Given the description of an element on the screen output the (x, y) to click on. 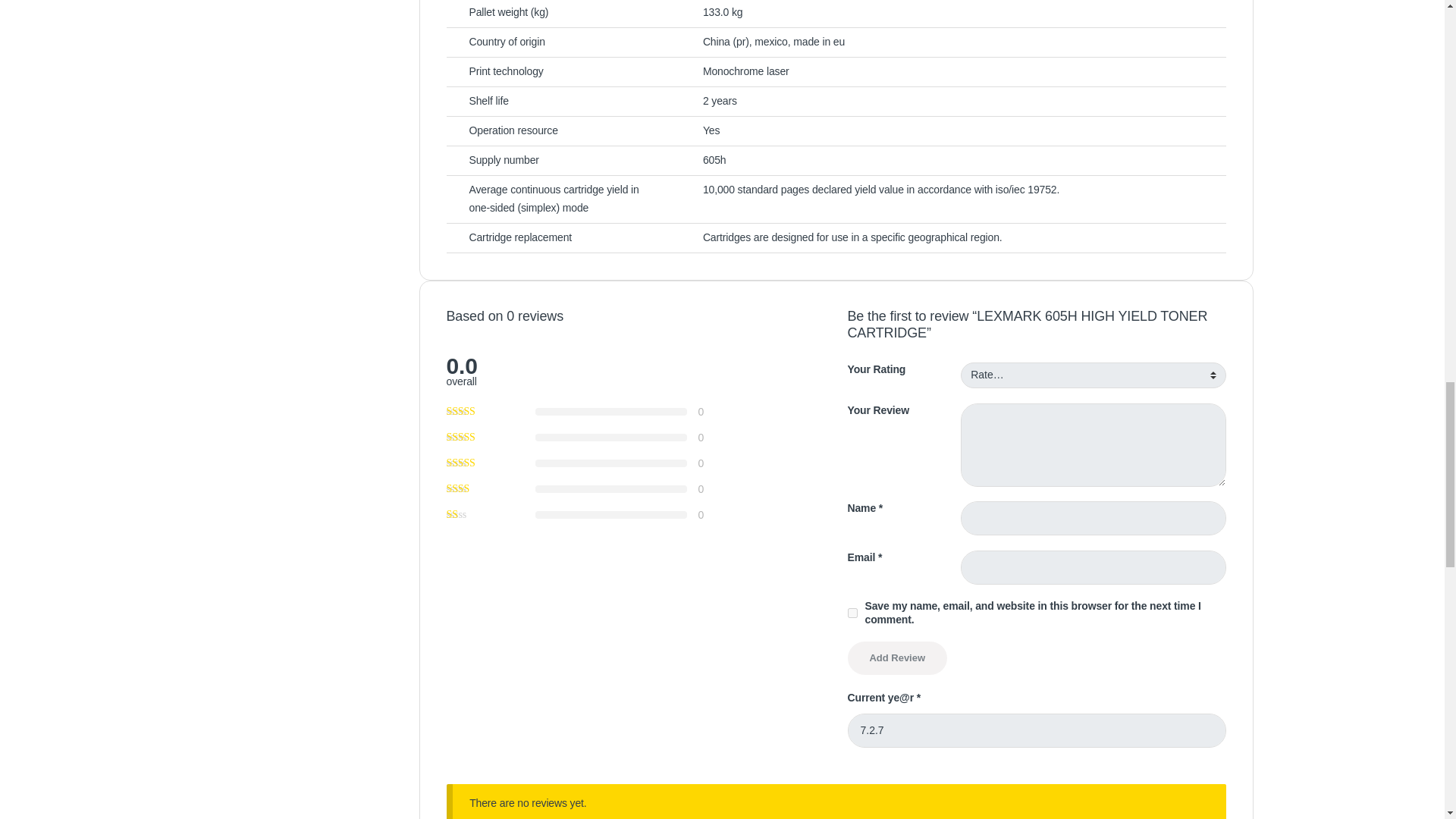
7.2.7 (1036, 730)
yes (852, 613)
Add Review (897, 657)
